Given the description of an element on the screen output the (x, y) to click on. 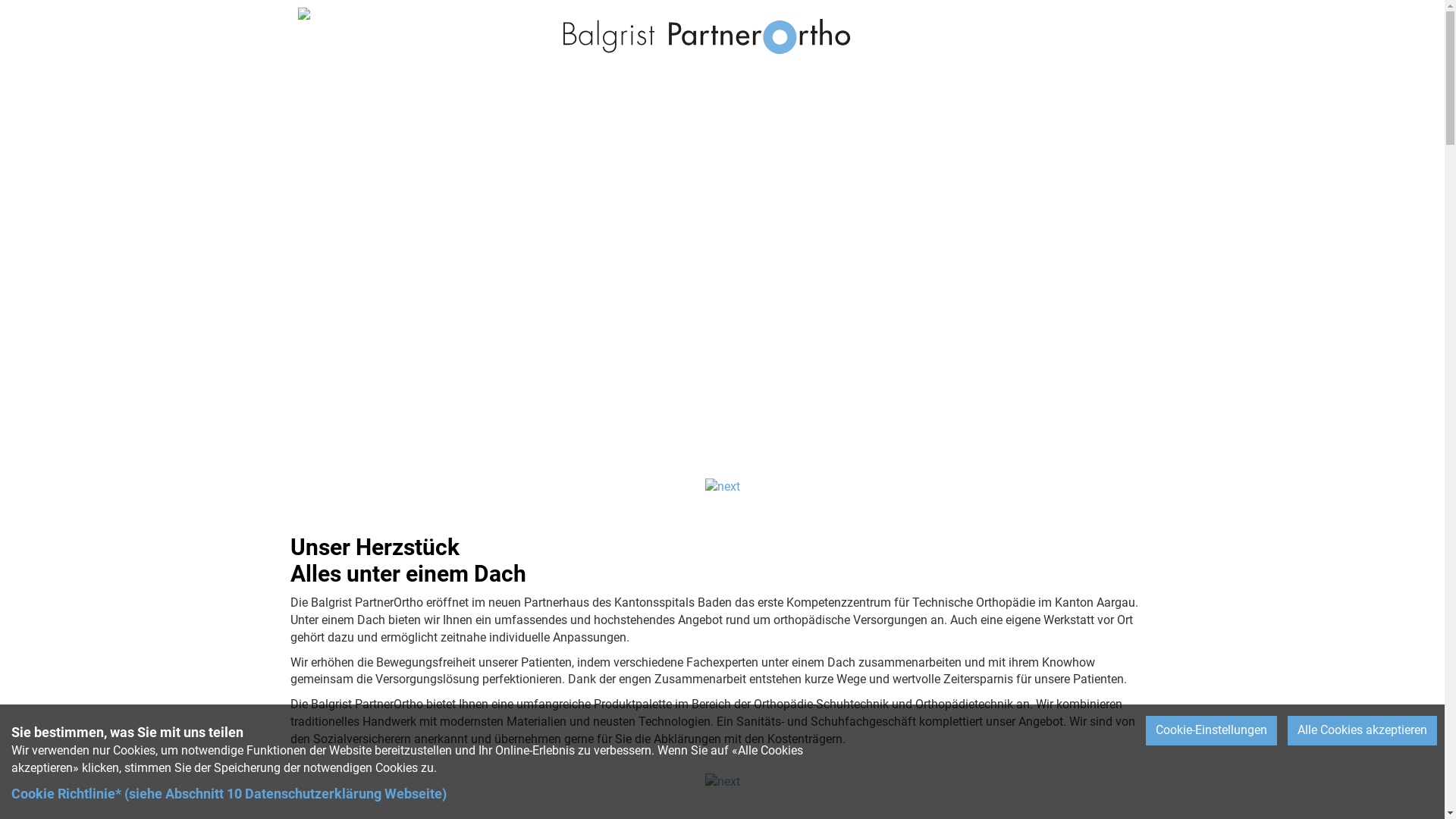
next  Element type: hover (722, 486)
  Element type: text (214, 45)
next  Element type: hover (722, 781)
  Element type: text (1335, 55)
